Given the description of an element on the screen output the (x, y) to click on. 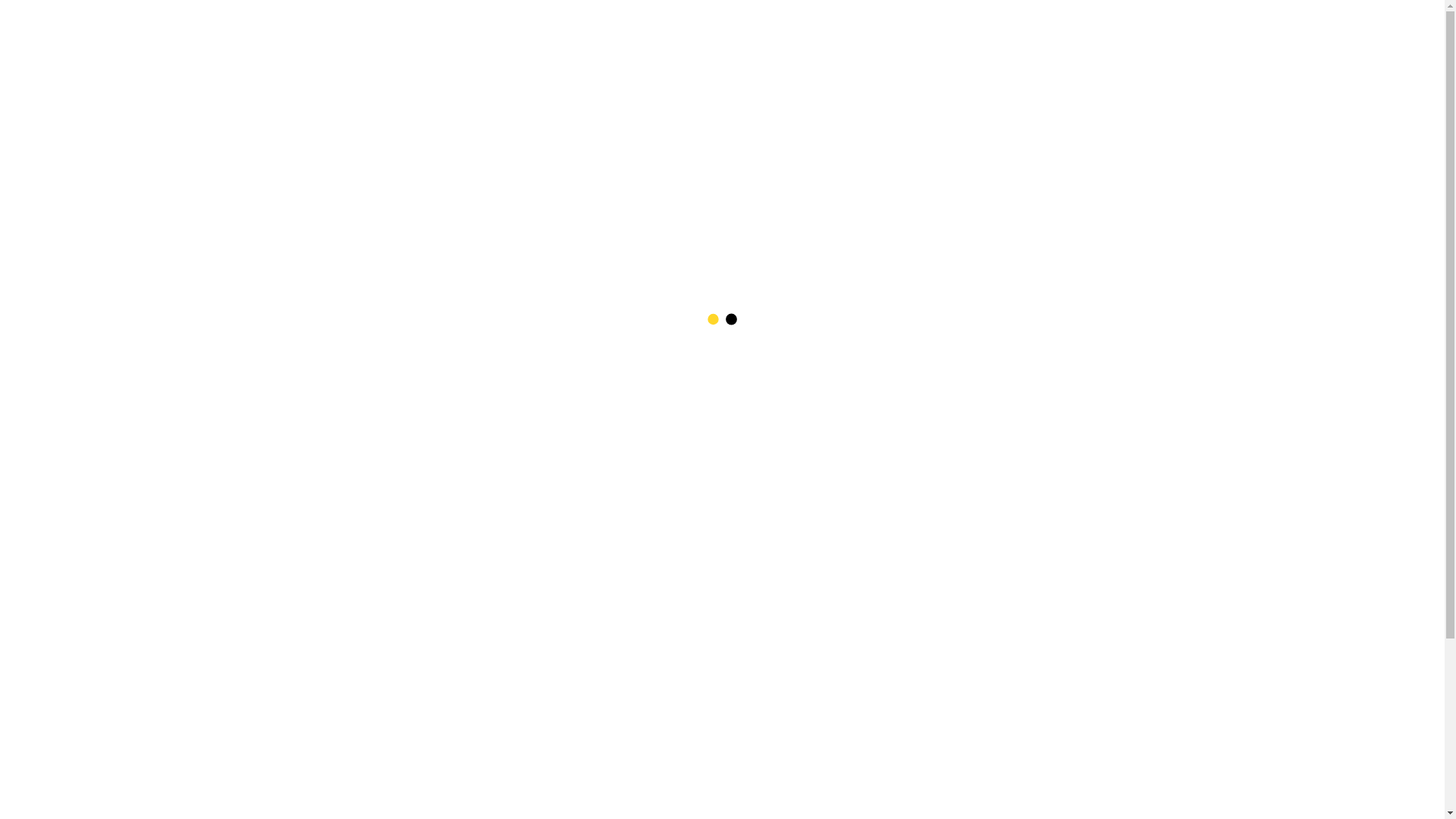
Outdoor Living Spaces Element type: text (335, 398)
Custom Kitchens Element type: text (350, 347)
logo-polytec.jpg#asset:209 Element type: hover (544, 524)
Wardrobes Element type: text (368, 372)
logo-laminex.jpg#asset:208 Element type: hover (544, 623)
Pre-assembled Element type: text (357, 450)
logo-hafele.jpg#asset:210 Element type: hover (544, 417)
Vanities Element type: text (377, 424)
